Given the description of an element on the screen output the (x, y) to click on. 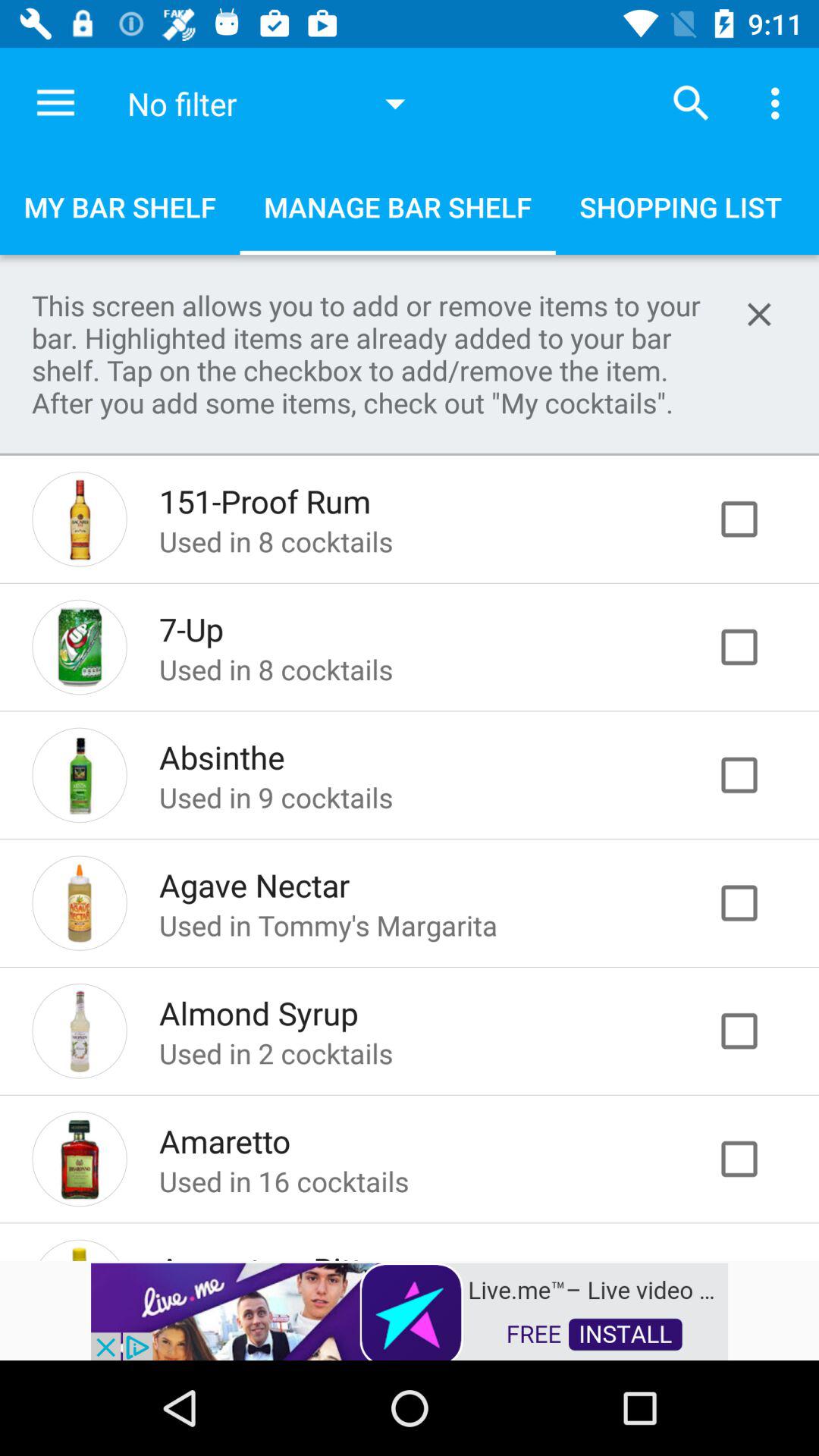
check (755, 1158)
